Given the description of an element on the screen output the (x, y) to click on. 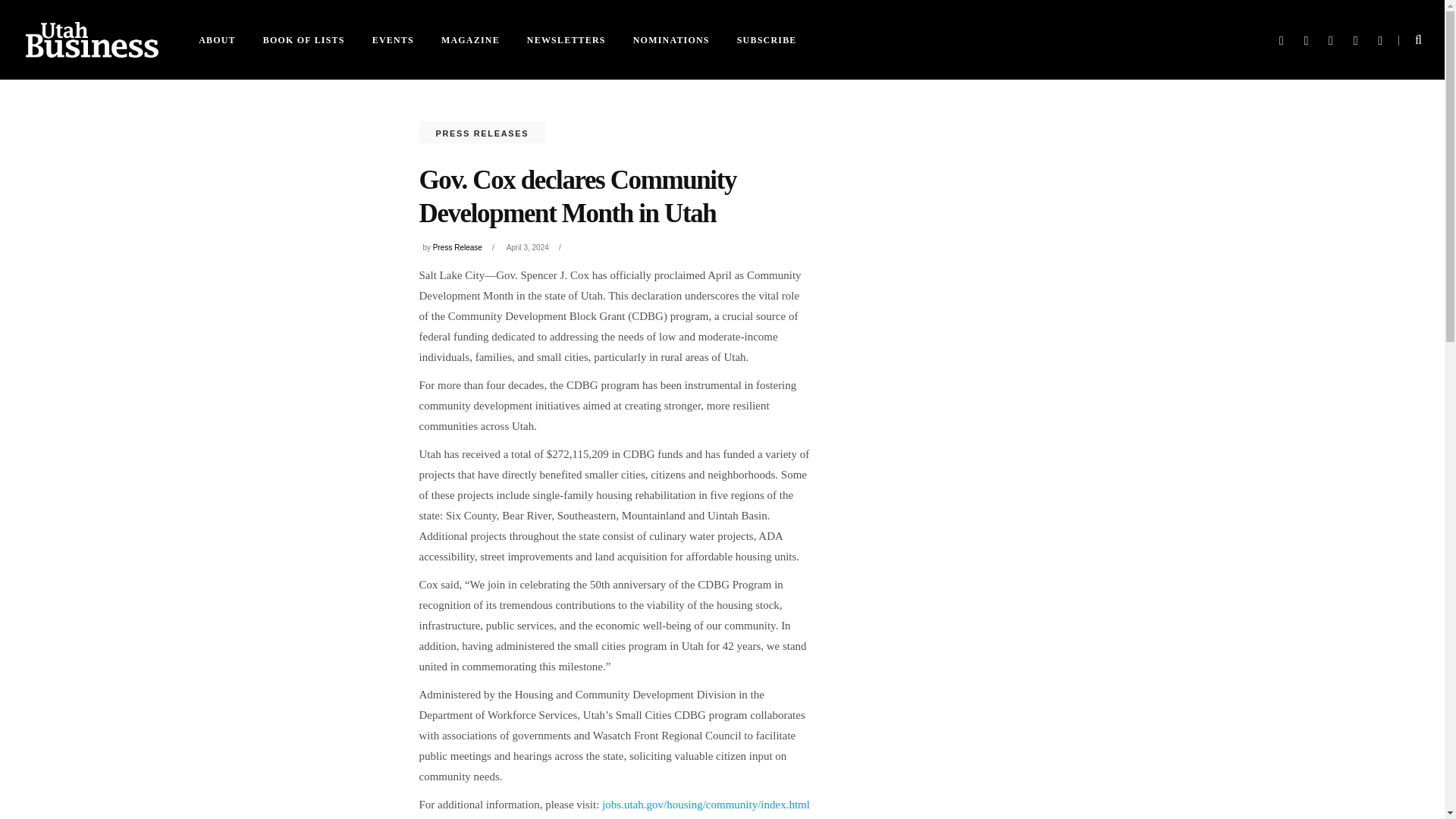
NOMINATIONS (671, 39)
MAGAZINE (470, 39)
Press Release (456, 247)
April 3, 2024 (527, 247)
PRESS RELEASES (481, 133)
SUBSCRIBE (766, 39)
NEWSLETTERS (566, 39)
BOOK OF LISTS (303, 39)
